Given the description of an element on the screen output the (x, y) to click on. 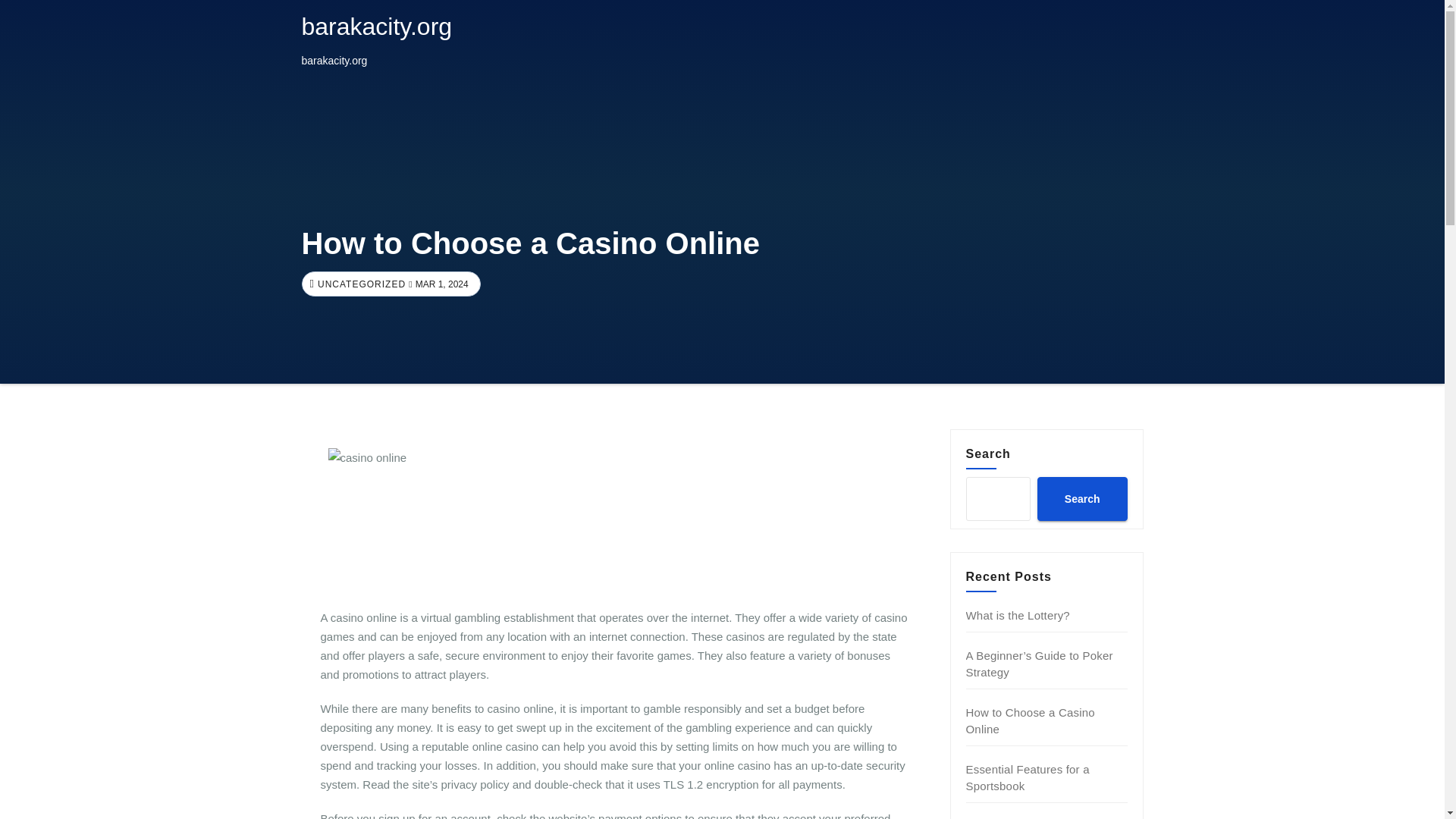
What is the Lottery? (1018, 615)
Search (1081, 498)
UNCATEGORIZED (360, 284)
How to Choose a Casino Online (1030, 720)
barakacity.org (376, 26)
Essential Features for a Sportsbook (1027, 777)
